Given the description of an element on the screen output the (x, y) to click on. 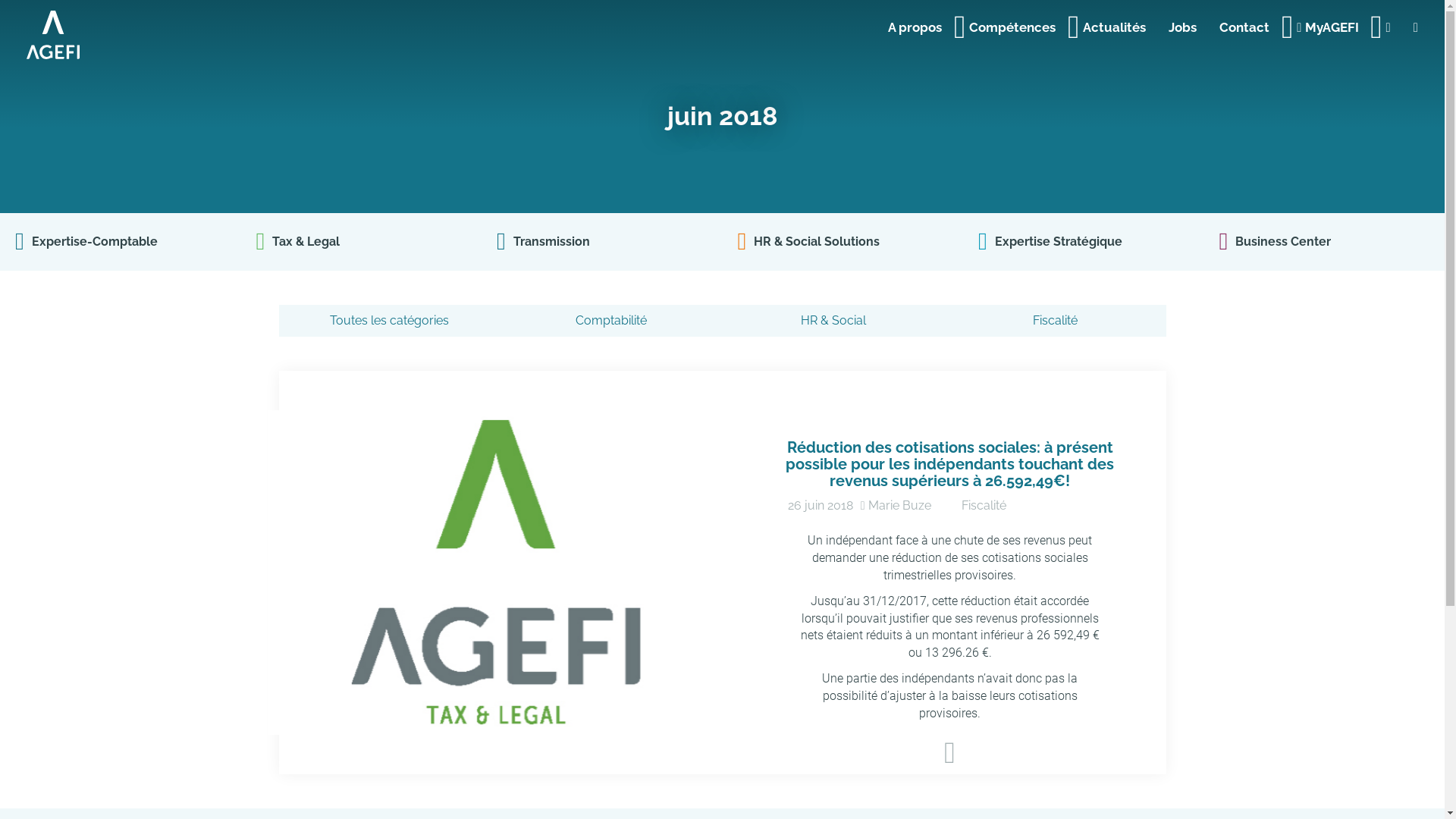
Jobs Element type: text (1182, 23)
HR & Social Solutions Element type: text (841, 241)
Expertise-Comptable Element type: text (120, 241)
A propos Element type: text (916, 23)
Transmission Element type: text (601, 241)
MyAGEFI Element type: text (1329, 23)
<i class="fa fa-linkedin"></i> Element type: hover (1388, 23)
Contact Element type: text (1246, 23)
26 juin 2018 Element type: text (820, 505)
Marie Buze Element type: text (898, 505)
Tax & Legal Element type: text (360, 241)
<i class="fa fa-facebook"></i> Element type: hover (1415, 23)
HR & Social Element type: text (832, 320)
Business Center Element type: text (1323, 241)
